Given the description of an element on the screen output the (x, y) to click on. 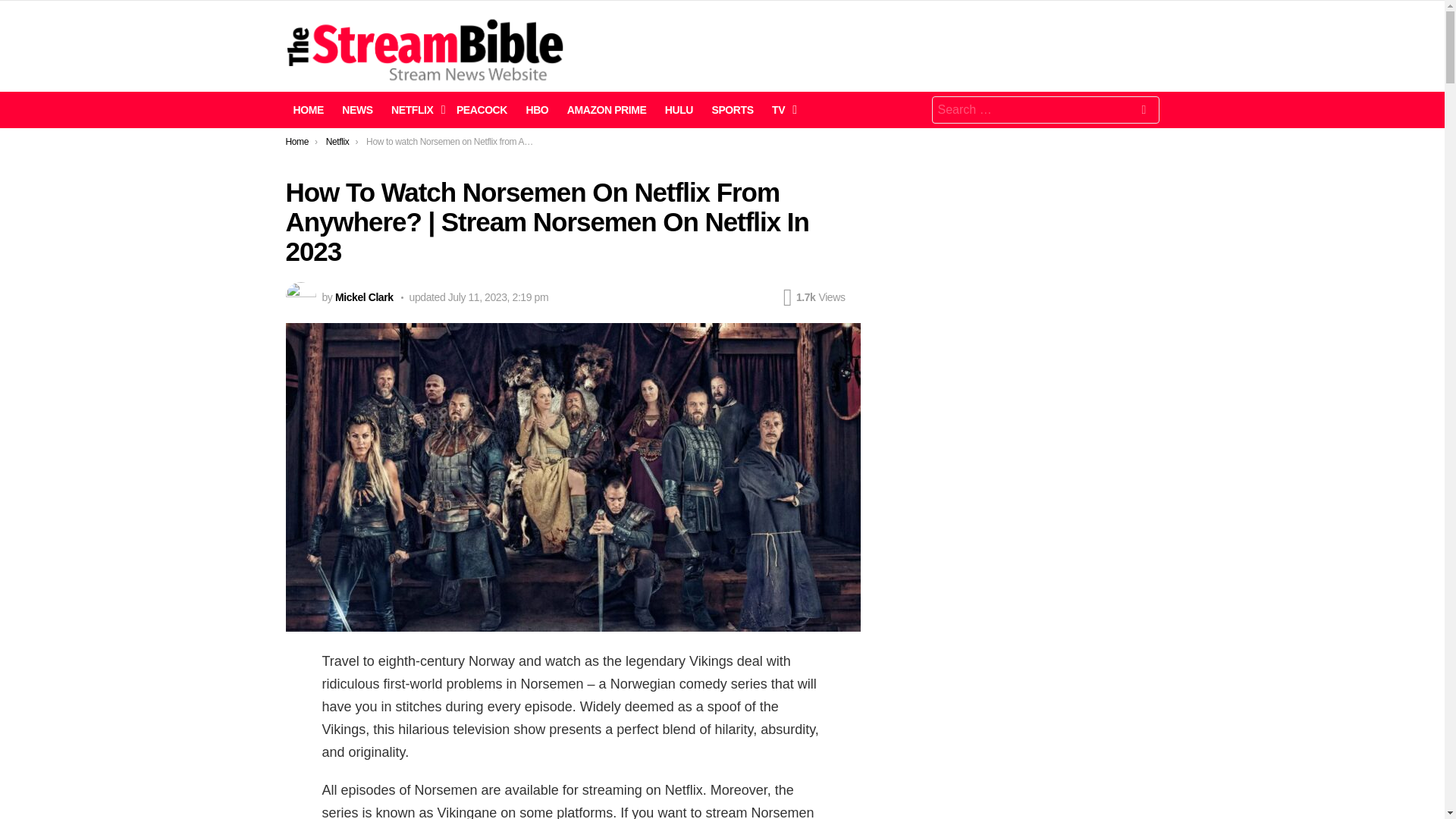
SEARCH (1143, 111)
HULU (679, 109)
SPORTS (731, 109)
AMAZON PRIME (606, 109)
Mickel Clark (363, 297)
HBO (537, 109)
Home (296, 141)
PEACOCK (481, 109)
Search for: (1044, 109)
HOME (307, 109)
Posts by Mickel Clark (363, 297)
TV (780, 109)
Netflix (337, 141)
NETFLIX (414, 109)
NEWS (357, 109)
